Given the description of an element on the screen output the (x, y) to click on. 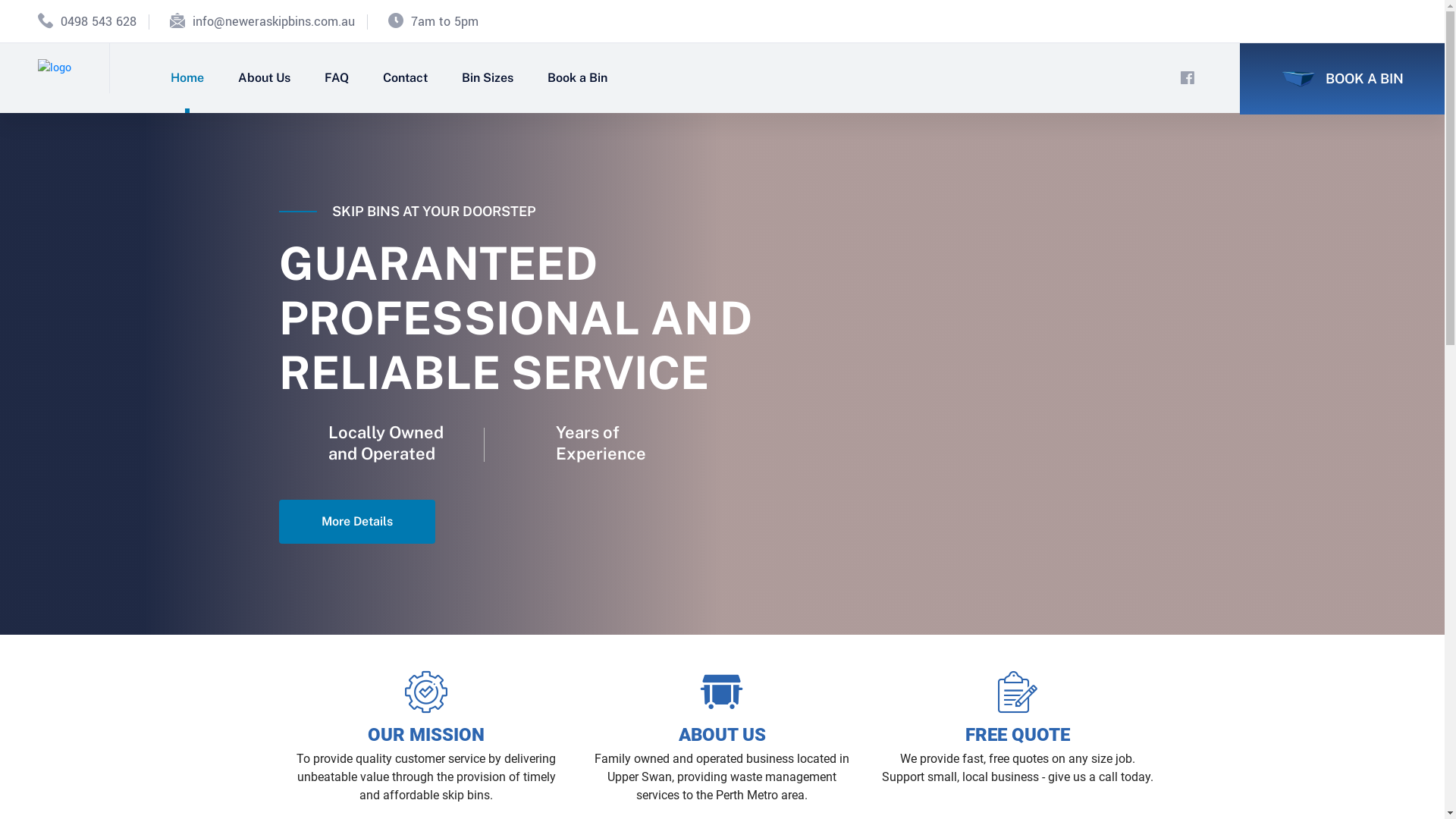
New Era Skip Bins Element type: hover (54, 67)
More Details Element type: text (357, 521)
FAQ Element type: text (336, 78)
Home Element type: text (186, 78)
Bin Sizes Element type: text (487, 78)
ABOUT US Element type: text (721, 734)
About Us Element type: text (264, 78)
info@neweraskipbins.com.au Element type: text (273, 20)
Book a Bin Element type: text (577, 78)
0498 543 628 Element type: text (98, 20)
BOOK A BIN Element type: text (1341, 78)
Contact Element type: text (404, 78)
